Given the description of an element on the screen output the (x, y) to click on. 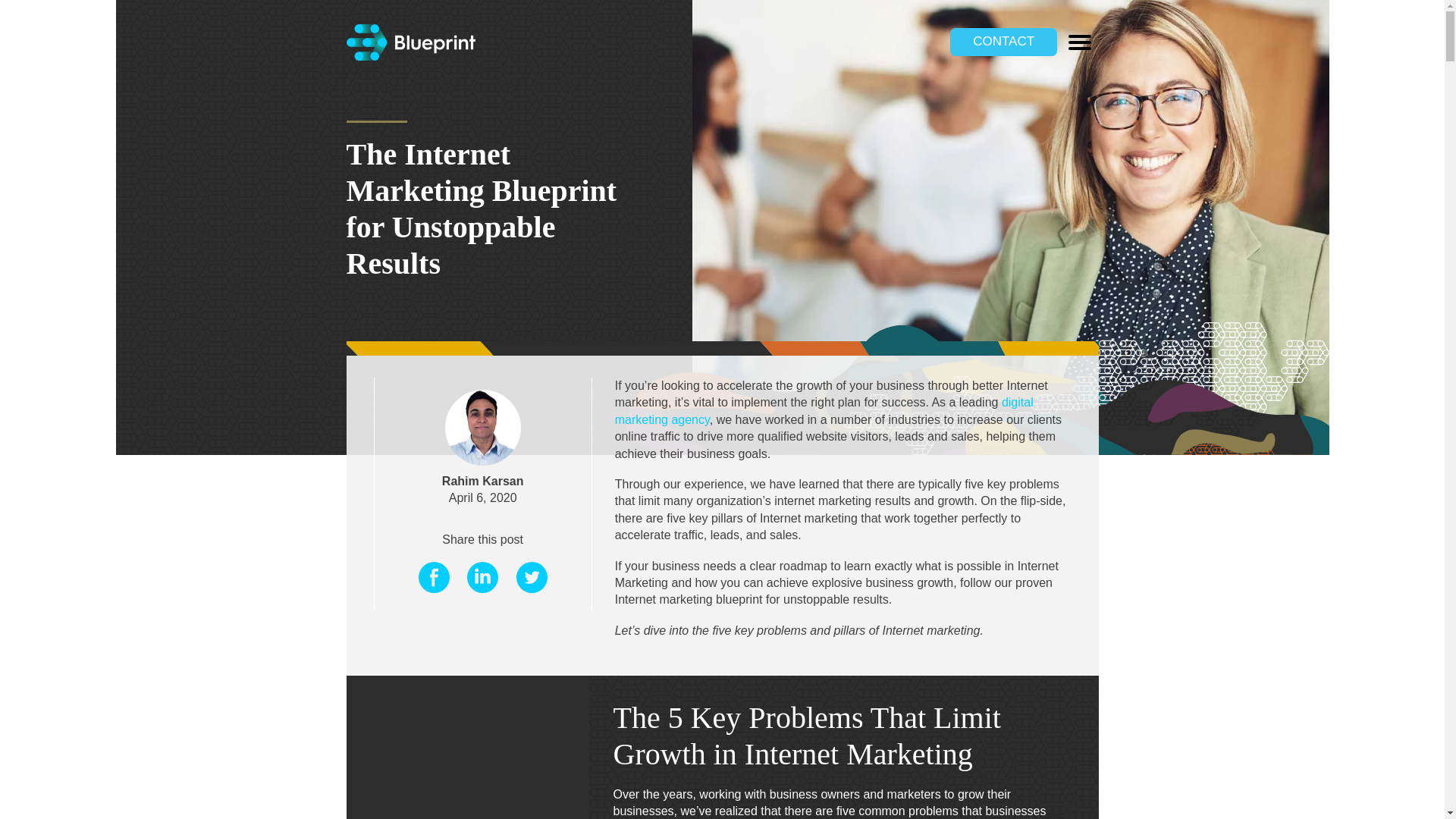
digital marketing agency (823, 410)
CONTACT (1003, 41)
Blueprint Internet Marketing (410, 56)
